Given the description of an element on the screen output the (x, y) to click on. 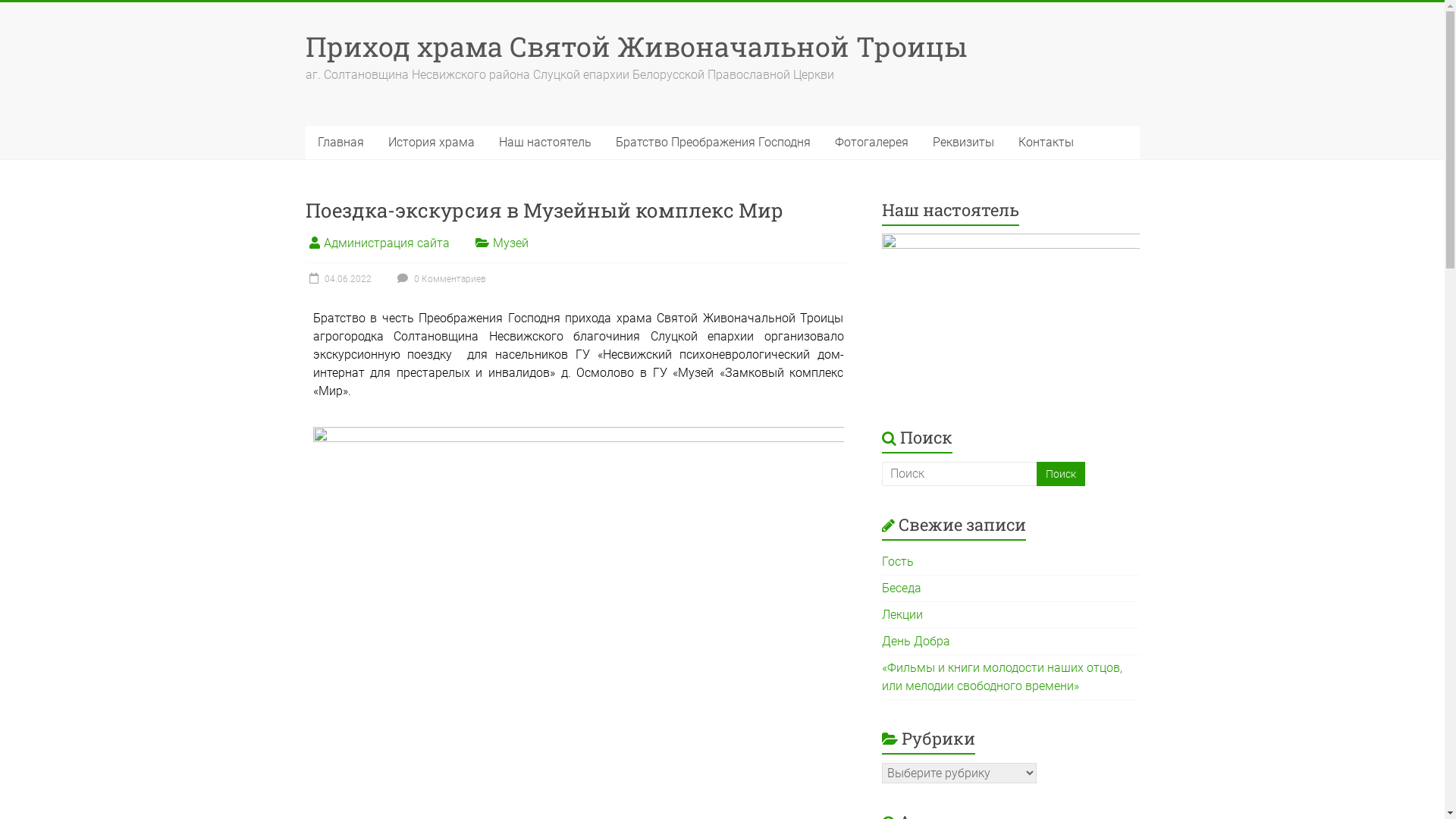
04.06.2022 Element type: text (337, 278)
